Given the description of an element on the screen output the (x, y) to click on. 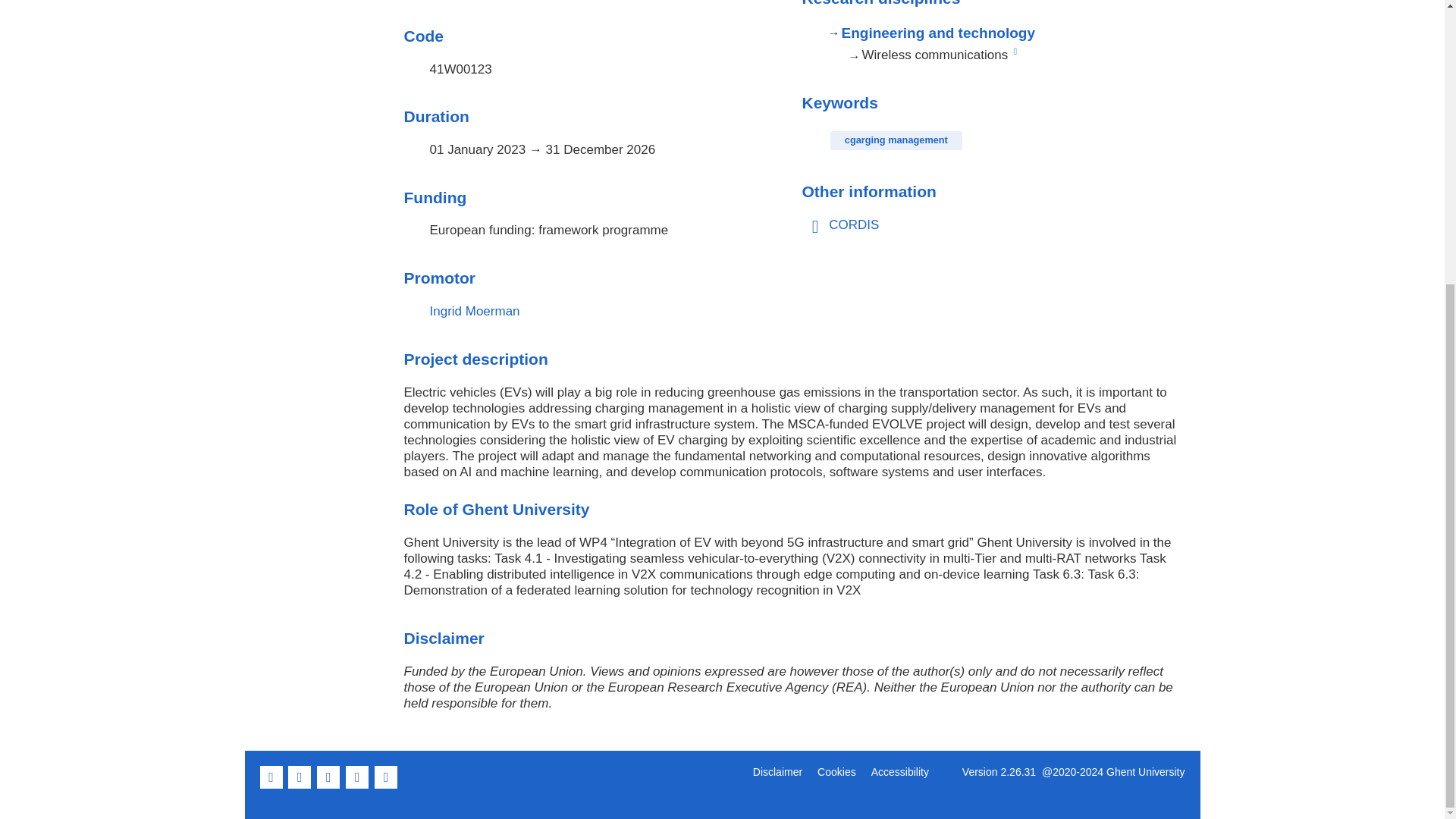
Ingrid Moerman (474, 310)
Accessibility (899, 771)
Instagram (387, 784)
CORDIS (853, 224)
Cookies (836, 771)
LinkedIn (329, 784)
YouTube (358, 784)
Facebook (272, 784)
Twitter (301, 784)
Disclaimer (777, 771)
